Given the description of an element on the screen output the (x, y) to click on. 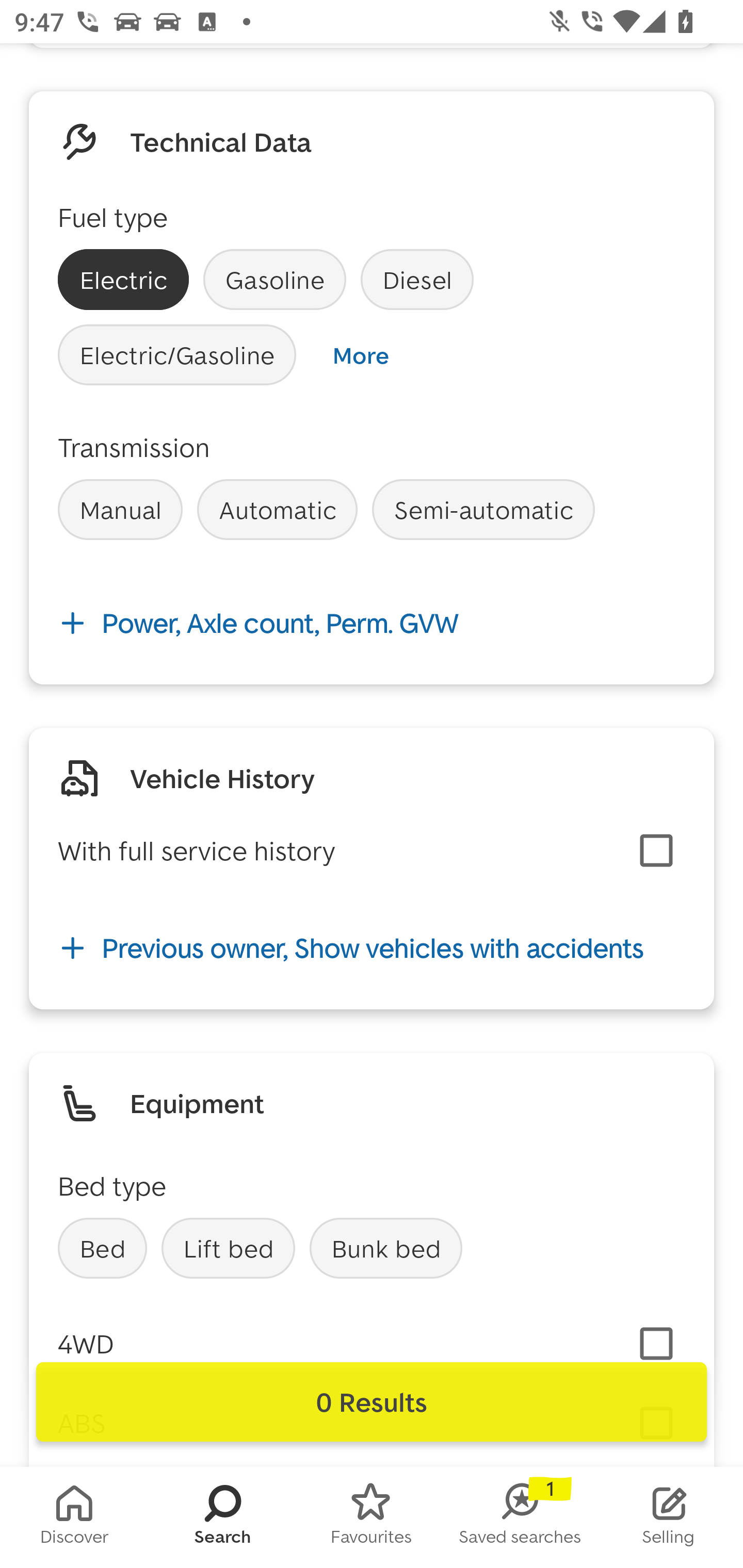
Technical Data (221, 141)
Fuel type (112, 217)
Electric (122, 279)
Gasoline (274, 279)
Diesel (417, 279)
Electric/Gasoline (176, 354)
More (360, 354)
Transmission (133, 446)
Manual (119, 509)
Automatic (276, 509)
Semi-automatic (483, 509)
Power, Axle count, Perm. GVW (371, 623)
Vehicle History (222, 778)
With full service history (196, 850)
Previous owner, Show vehicles with accidents (371, 947)
Equipment (197, 1103)
Bed type (111, 1185)
Bed (102, 1247)
Lift bed (227, 1247)
Bunk bed (385, 1247)
4WD (85, 1343)
0 Results (371, 1401)
HOMESCREEN Discover (74, 1517)
SEARCH Search (222, 1517)
FAVORITES Favourites (371, 1517)
SAVED_SEARCHES Saved searches 1 (519, 1517)
STOCK_LIST Selling (668, 1517)
